Given the description of an element on the screen output the (x, y) to click on. 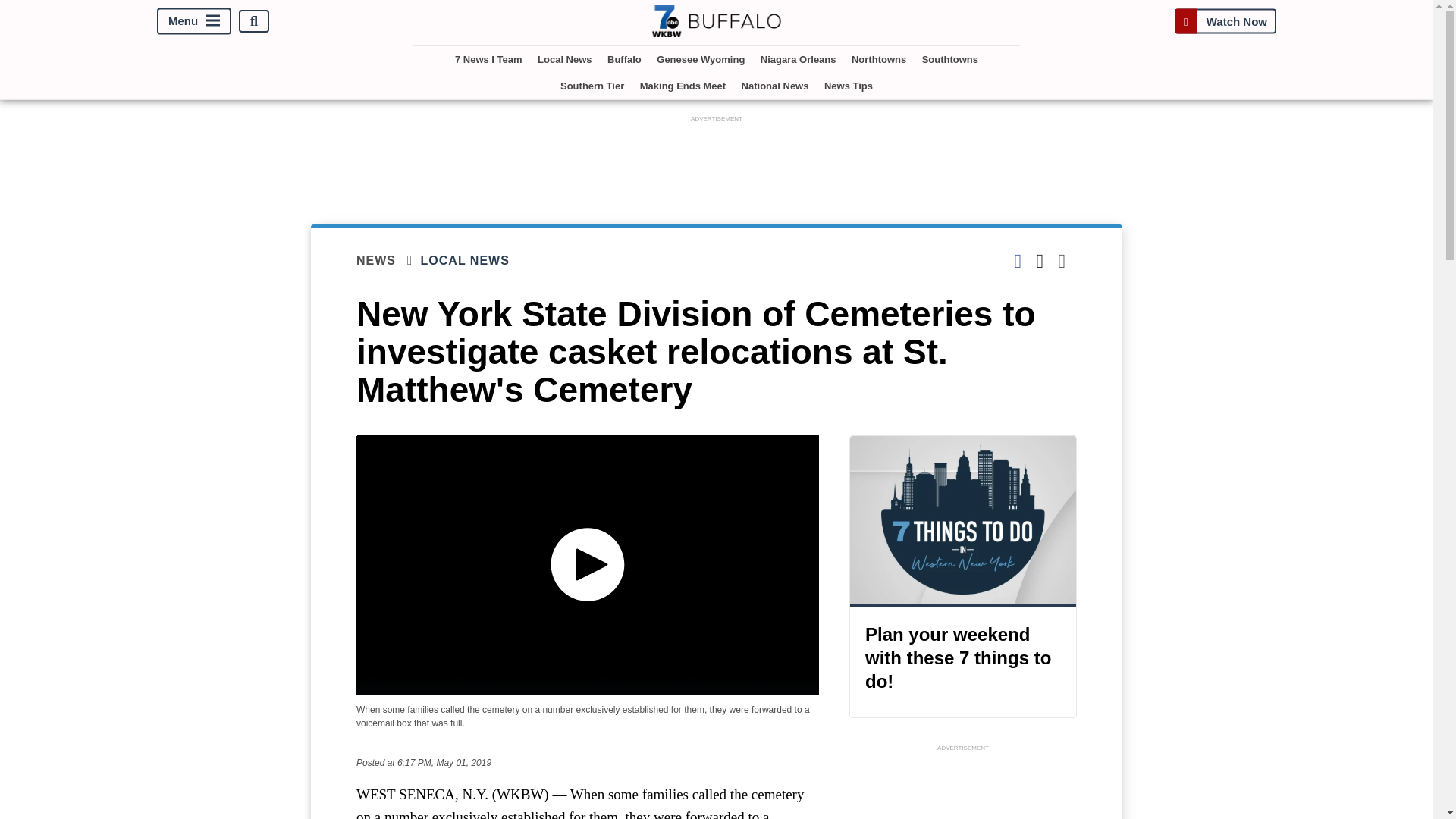
Menu (194, 21)
Watch Now (1224, 21)
3rd party ad content (962, 787)
3rd party ad content (716, 160)
